Given the description of an element on the screen output the (x, y) to click on. 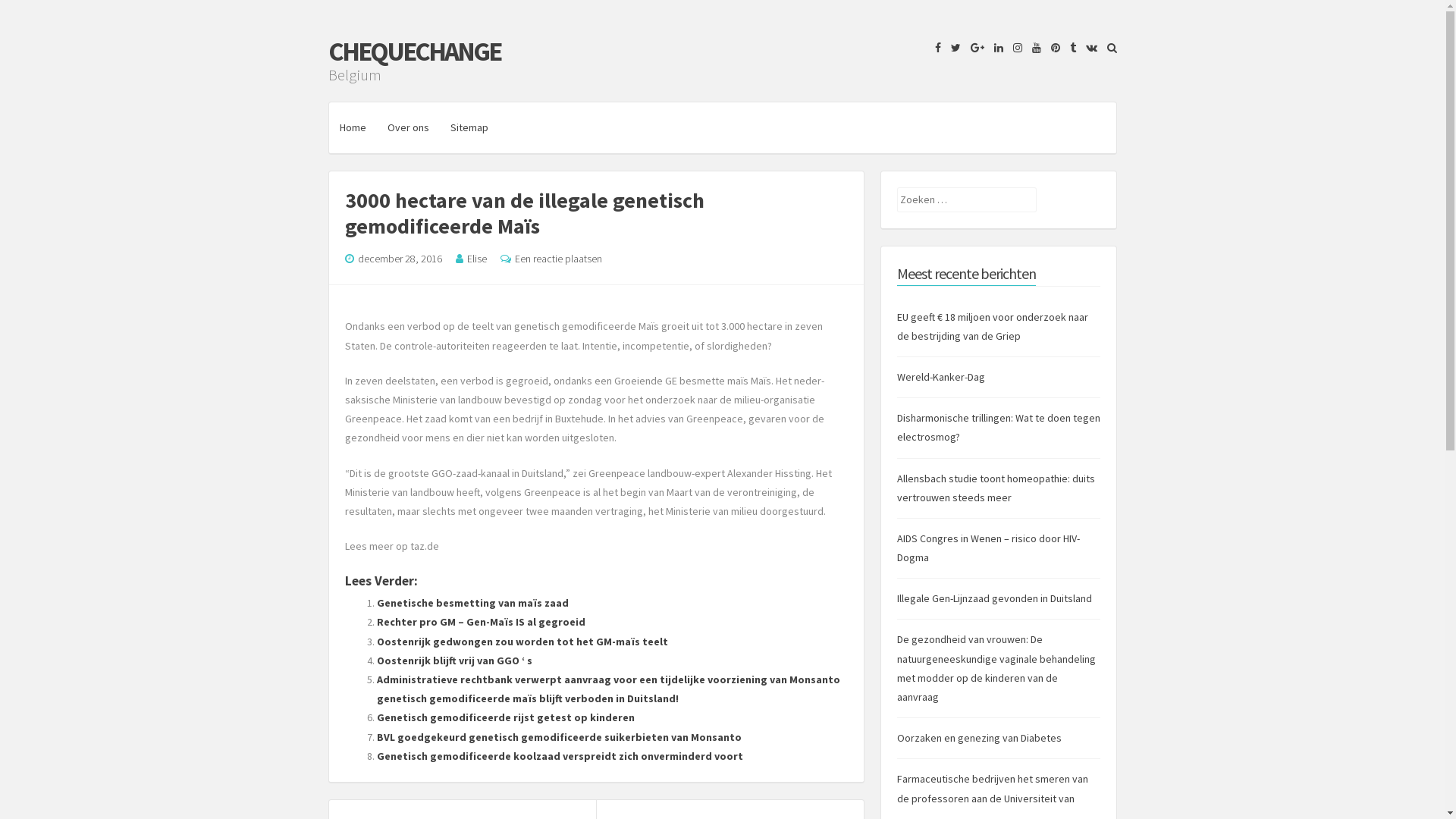
LinkedIn Element type: text (993, 47)
Instagram Element type: text (1013, 47)
Elise Element type: text (476, 258)
YouTube Element type: text (1031, 47)
Genetisch gemodificeerde rijst getest op kinderen Element type: text (504, 717)
Sitemap Element type: text (468, 127)
Tumblr Element type: text (1068, 47)
december 28, 2016 Element type: text (399, 258)
Disharmonische trillingen: Wat te doen tegen electrosmog? Element type: text (997, 427)
Een reactie plaatsen Element type: text (557, 258)
Facebook Element type: text (933, 47)
Twitter Element type: text (951, 47)
VK Element type: text (1087, 47)
Google Plus Element type: text (973, 47)
Zoeken Element type: text (27, 12)
Home Element type: text (352, 127)
Illegale Gen-Lijnzaad gevonden in Duitsland Element type: text (993, 598)
Over ons Element type: text (407, 127)
Wereld-Kanker-Dag Element type: text (940, 376)
CHEQUECHANGE Element type: text (413, 51)
Pinterest Element type: text (1051, 47)
Oorzaken en genezing van Diabetes Element type: text (978, 737)
